Given the description of an element on the screen output the (x, y) to click on. 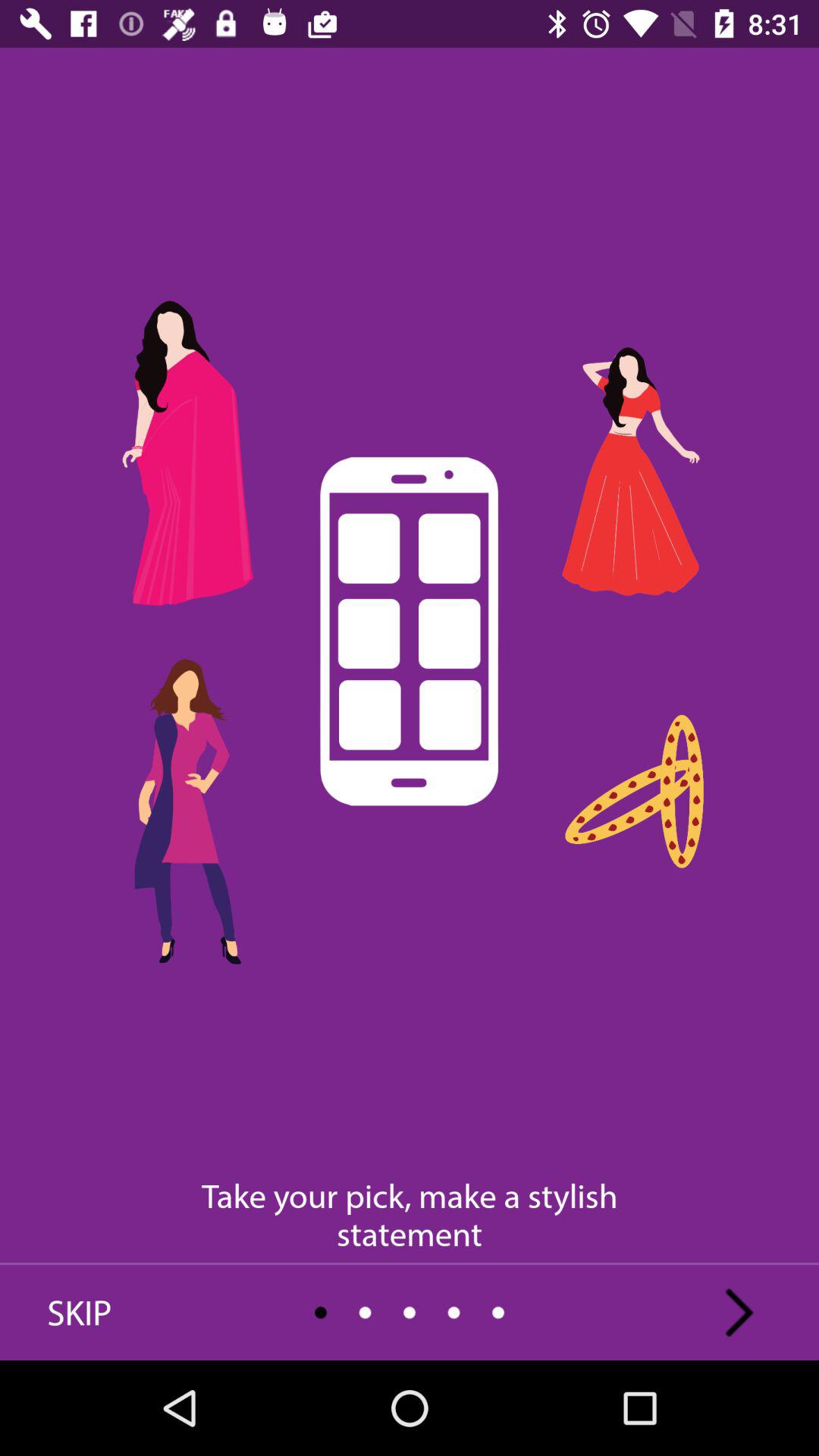
select item at the bottom right corner (739, 1312)
